Given the description of an element on the screen output the (x, y) to click on. 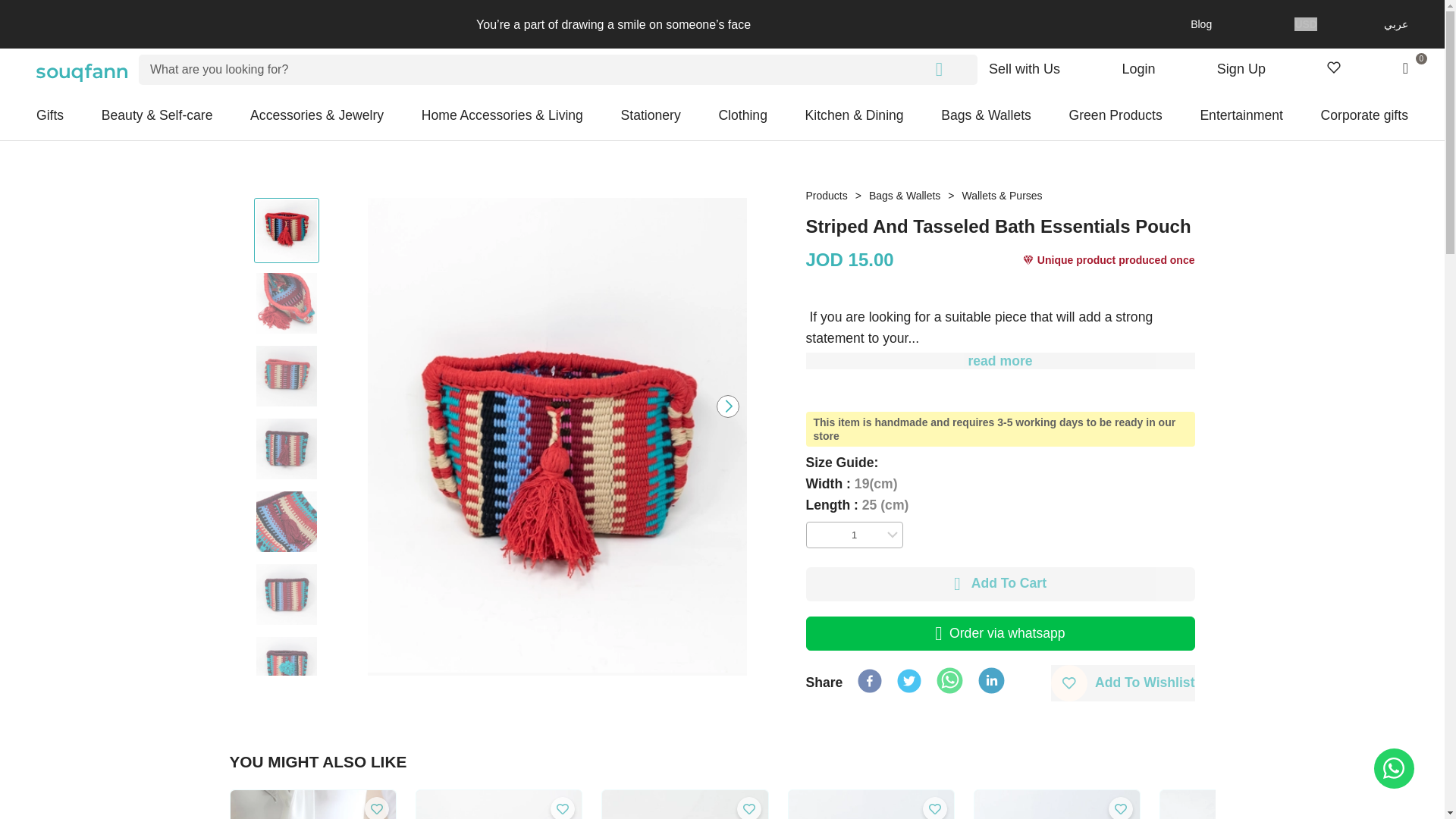
Login (1137, 68)
Gifts (50, 114)
Blog (1223, 24)
Sell with Us (1023, 68)
USD (1305, 24)
Sign Up (1241, 68)
